Given the description of an element on the screen output the (x, y) to click on. 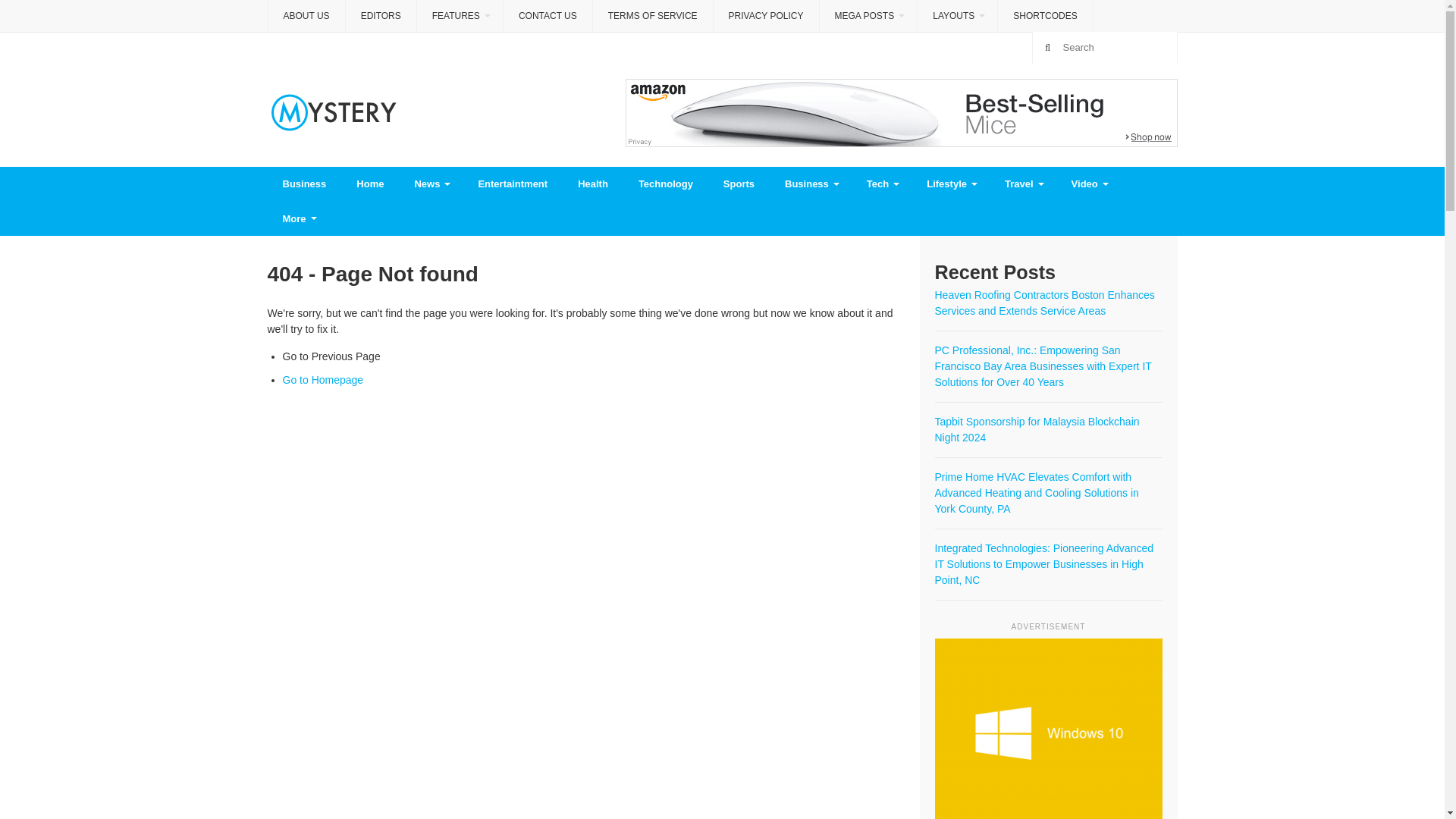
FEATURES (459, 16)
ABOUT US (305, 15)
EDITORS (381, 15)
